Given the description of an element on the screen output the (x, y) to click on. 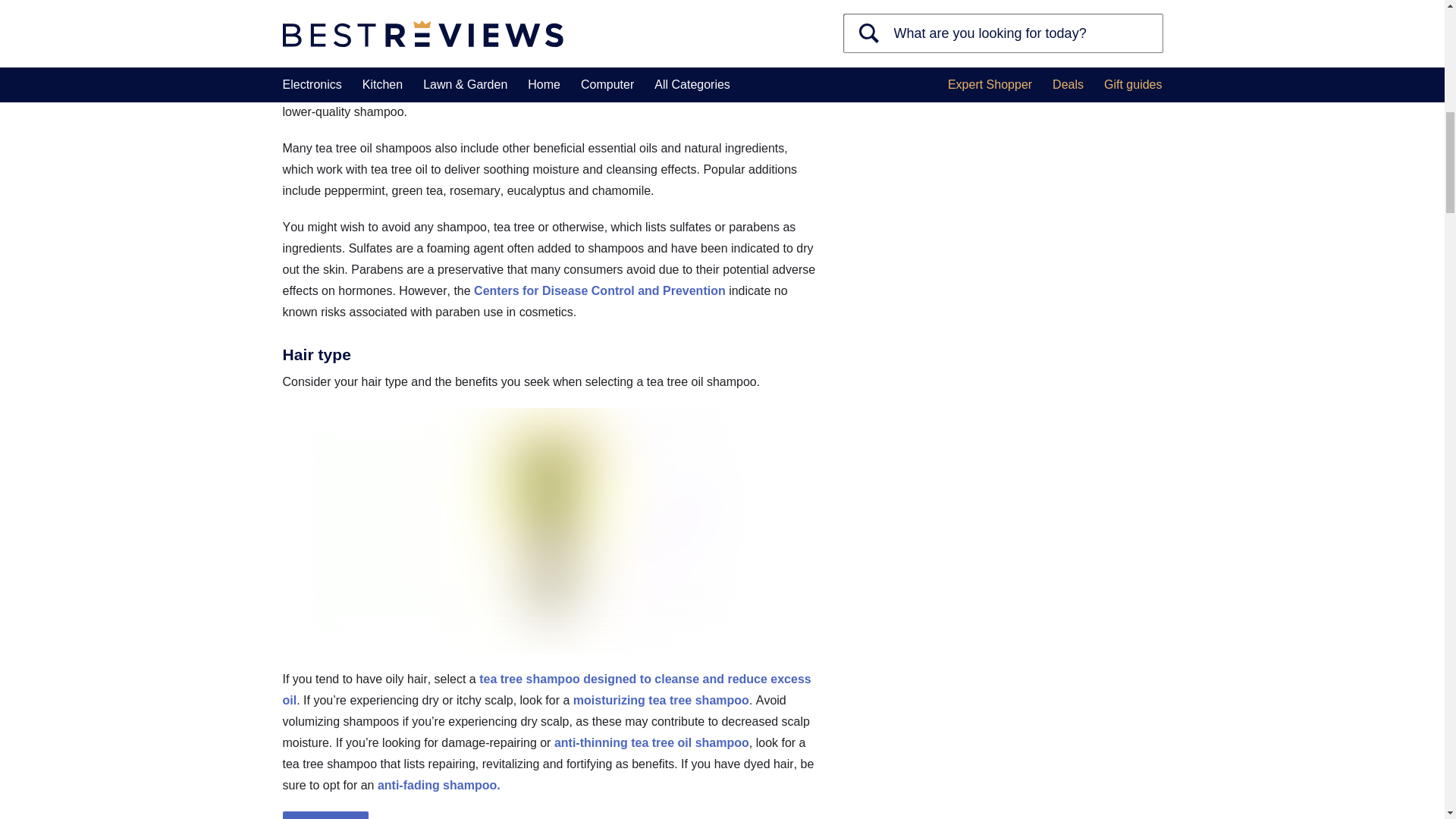
moisturizing tea tree shampoo (661, 699)
tea tree shampoo designed to cleanse and reduce excess oil (546, 689)
anti-thinning tea tree oil shampoo (651, 742)
Centers for Disease Control and Prevention (599, 290)
Shop Now (325, 815)
tea tree shampoo (509, 69)
anti-fading shampoo. (438, 784)
